Given the description of an element on the screen output the (x, y) to click on. 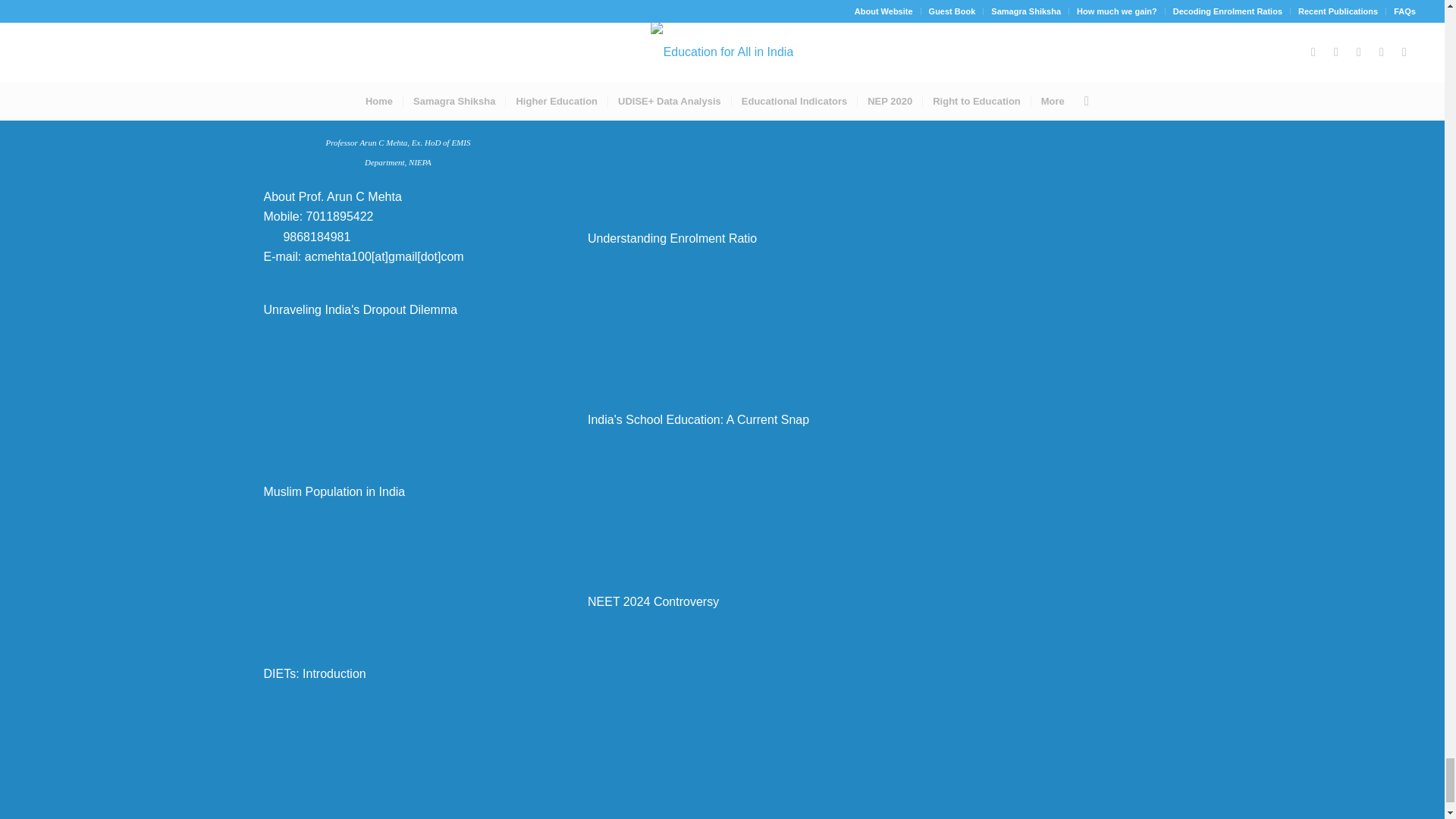
YouTube video player (397, 387)
YouTube video player (397, 568)
whatsapp logo (269, 234)
YouTube video player (722, 132)
YouTube video player (397, 749)
